Given the description of an element on the screen output the (x, y) to click on. 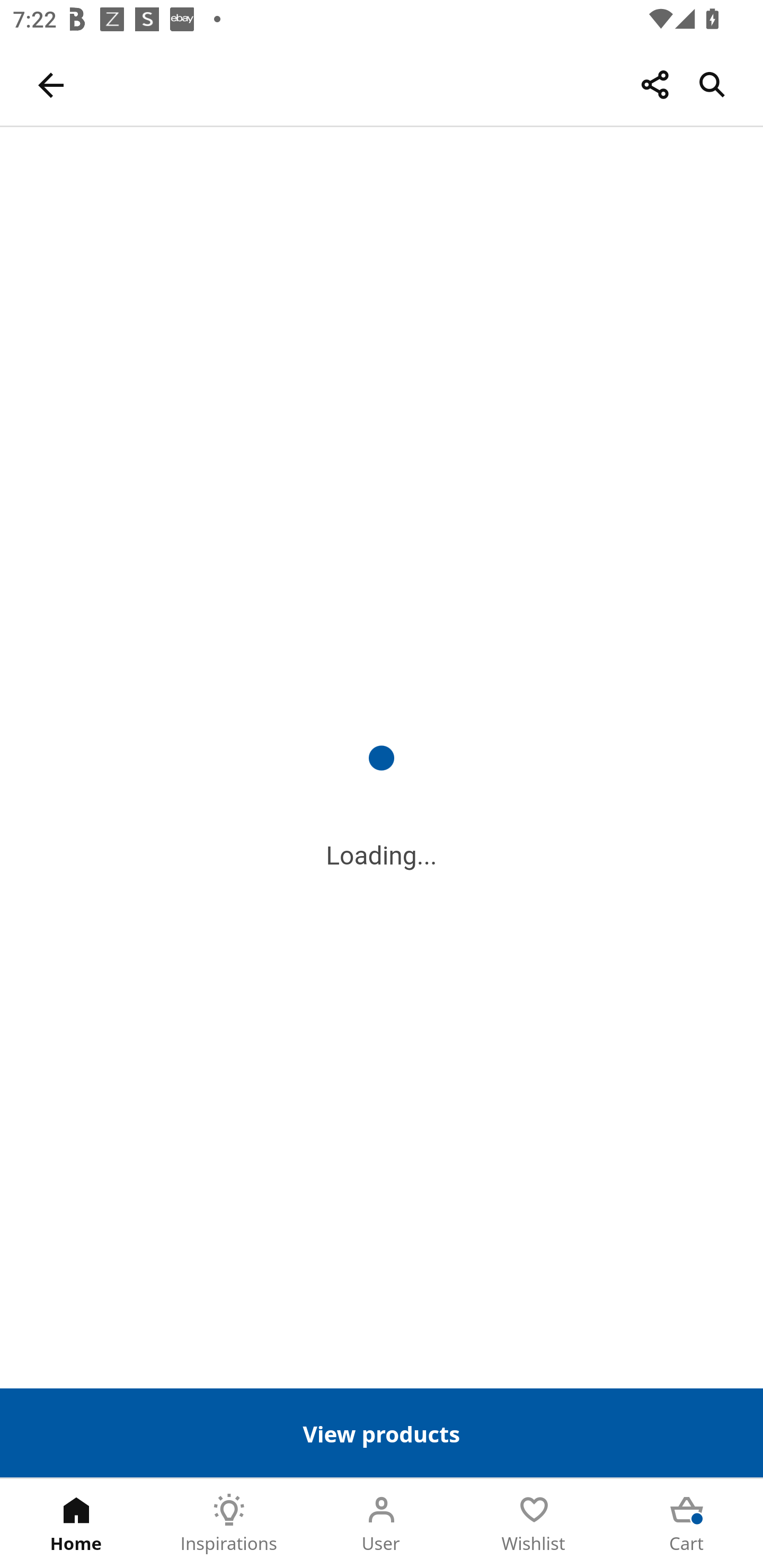
View products (381, 1432)
Home
Tab 1 of 5 (76, 1522)
Inspirations
Tab 2 of 5 (228, 1522)
User
Tab 3 of 5 (381, 1522)
Wishlist
Tab 4 of 5 (533, 1522)
Cart
Tab 5 of 5 (686, 1522)
